Given the description of an element on the screen output the (x, y) to click on. 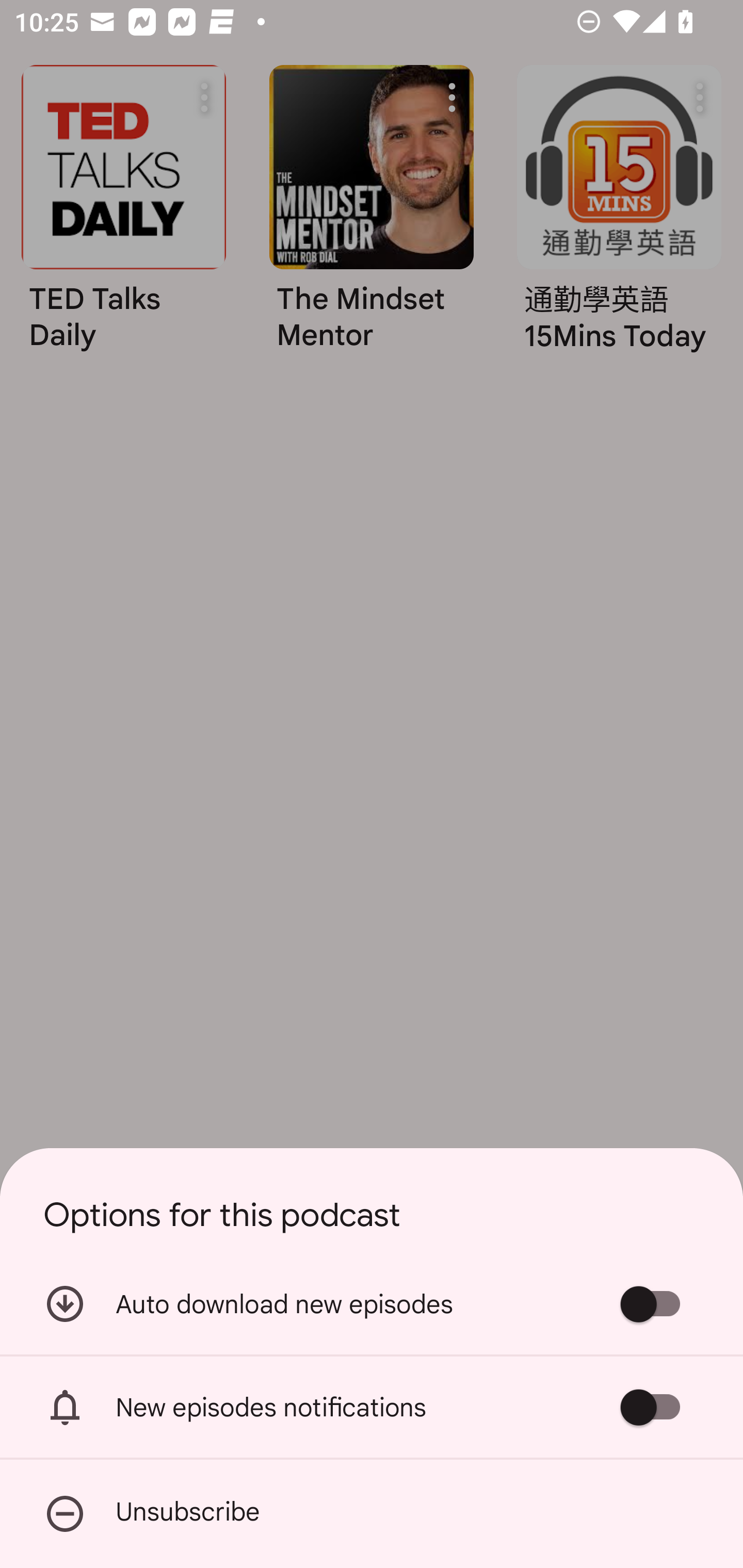
Auto download new episodes (371, 1303)
New episodes notifications (371, 1407)
Unsubscribe (371, 1513)
